Given the description of an element on the screen output the (x, y) to click on. 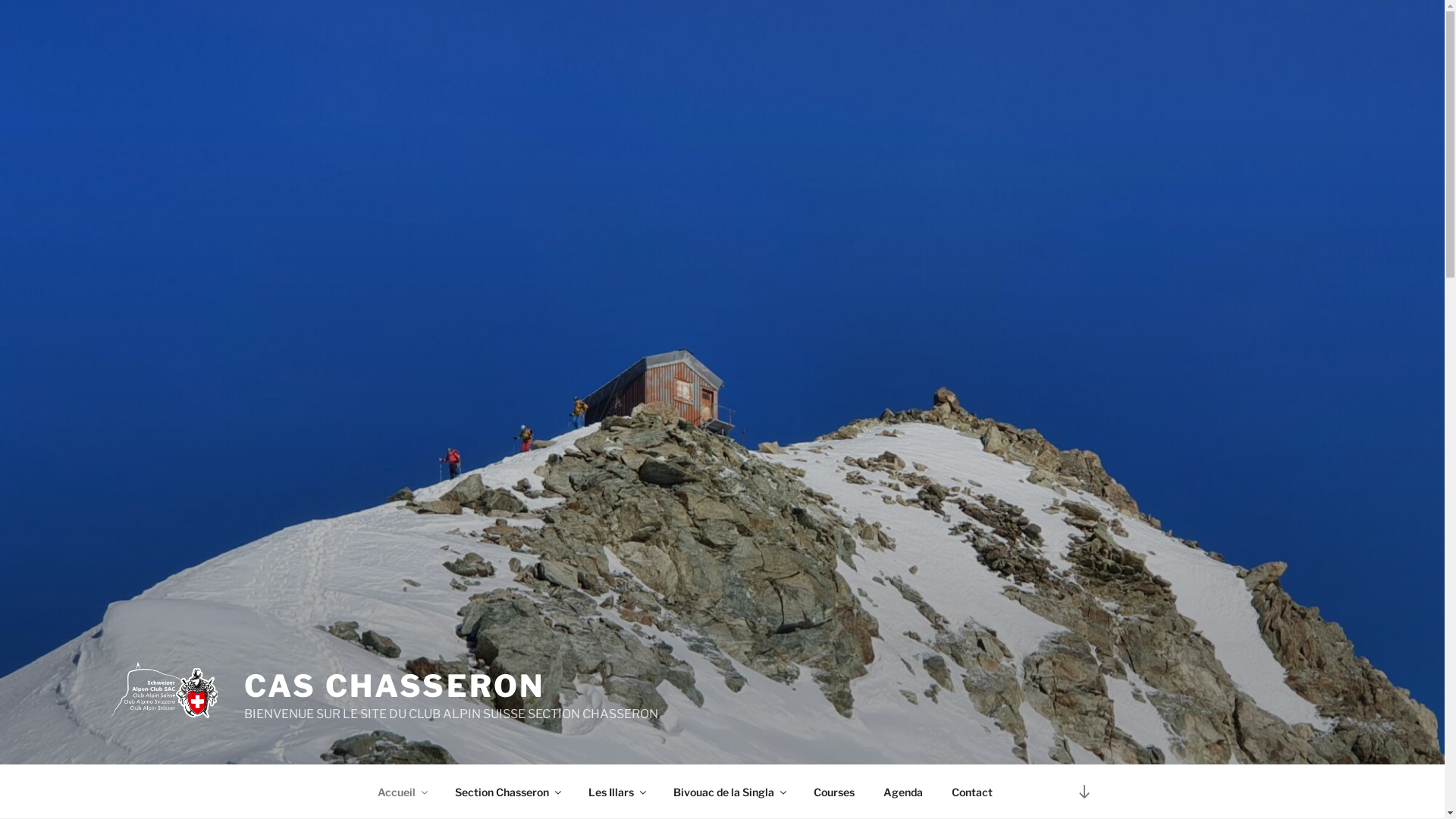
Agenda Element type: text (903, 791)
Descendre au contenu Element type: text (1083, 790)
Courses Element type: text (834, 791)
Accueil Element type: text (401, 791)
Contact Element type: text (972, 791)
Les Illars Element type: text (615, 791)
Bivouac de la Singla Element type: text (728, 791)
CAS CHASSERON Element type: text (394, 685)
Section Chasseron Element type: text (506, 791)
